Given the description of an element on the screen output the (x, y) to click on. 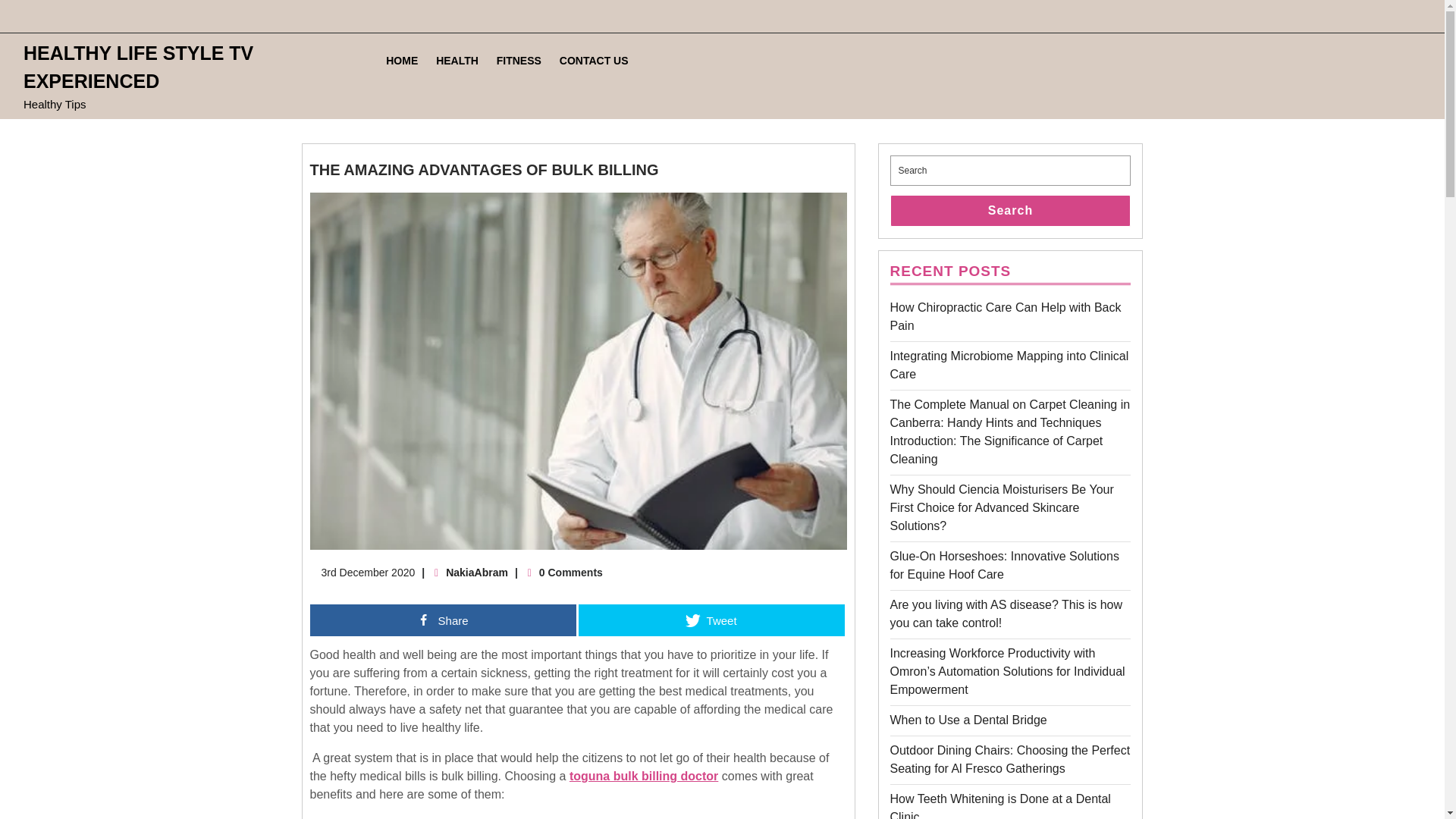
Integrating Microbiome Mapping into Clinical Care (1009, 364)
Tweet (368, 572)
How Teeth Whitening is Done at a Dental Clinic (711, 620)
CONTACT US (999, 805)
How Chiropractic Care Can Help with Back Pain (593, 60)
